Given the description of an element on the screen output the (x, y) to click on. 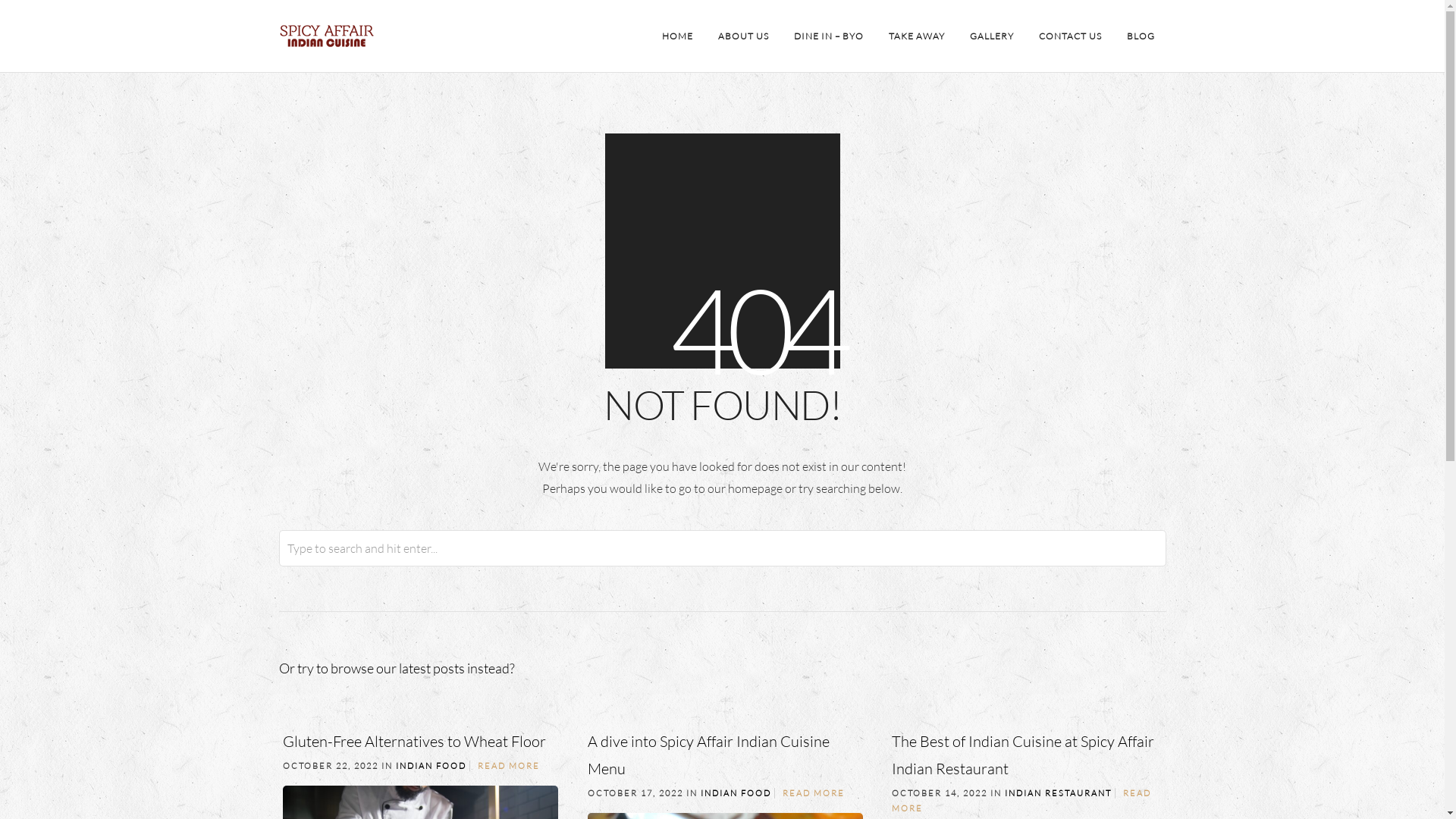
INDIAN FOOD Element type: text (735, 792)
READ MORE Element type: text (508, 765)
INDIAN RESTAURANT Element type: text (1057, 792)
BLOG Element type: text (1139, 36)
The Best of Indian Cuisine at Spicy Affair Indian Restaurant Element type: text (1022, 754)
CONTACT US Element type: text (1069, 36)
ABOUT US Element type: text (743, 36)
Gluten-Free Alternatives to Wheat Floor Element type: text (413, 740)
TAKE AWAY Element type: text (915, 36)
GALLERY Element type: text (991, 36)
READ MORE Element type: text (813, 792)
INDIAN FOOD Element type: text (430, 765)
READ MORE Element type: text (1021, 800)
HOME Element type: text (677, 36)
A dive into Spicy Affair Indian Cuisine Menu Element type: text (707, 754)
